Given the description of an element on the screen output the (x, y) to click on. 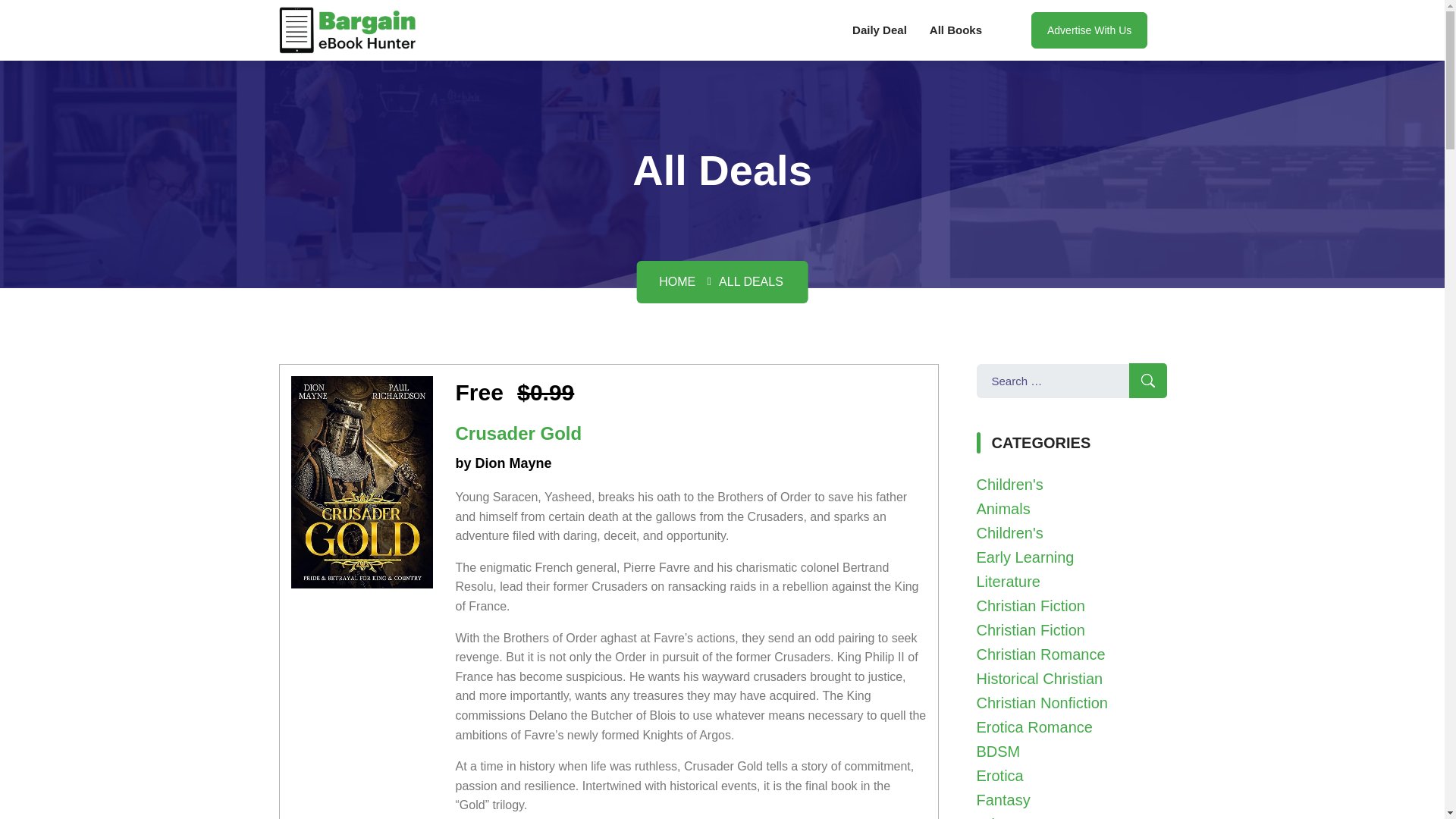
Christian Fiction (1030, 629)
Erotica Romance (1034, 727)
Animals (1003, 508)
HOME (677, 281)
Christian Nonfiction (1042, 702)
Fantasy (1003, 799)
Historical Christian (1039, 678)
Christian Romance (1040, 654)
All Books (955, 29)
Early Learning (1025, 556)
